Given the description of an element on the screen output the (x, y) to click on. 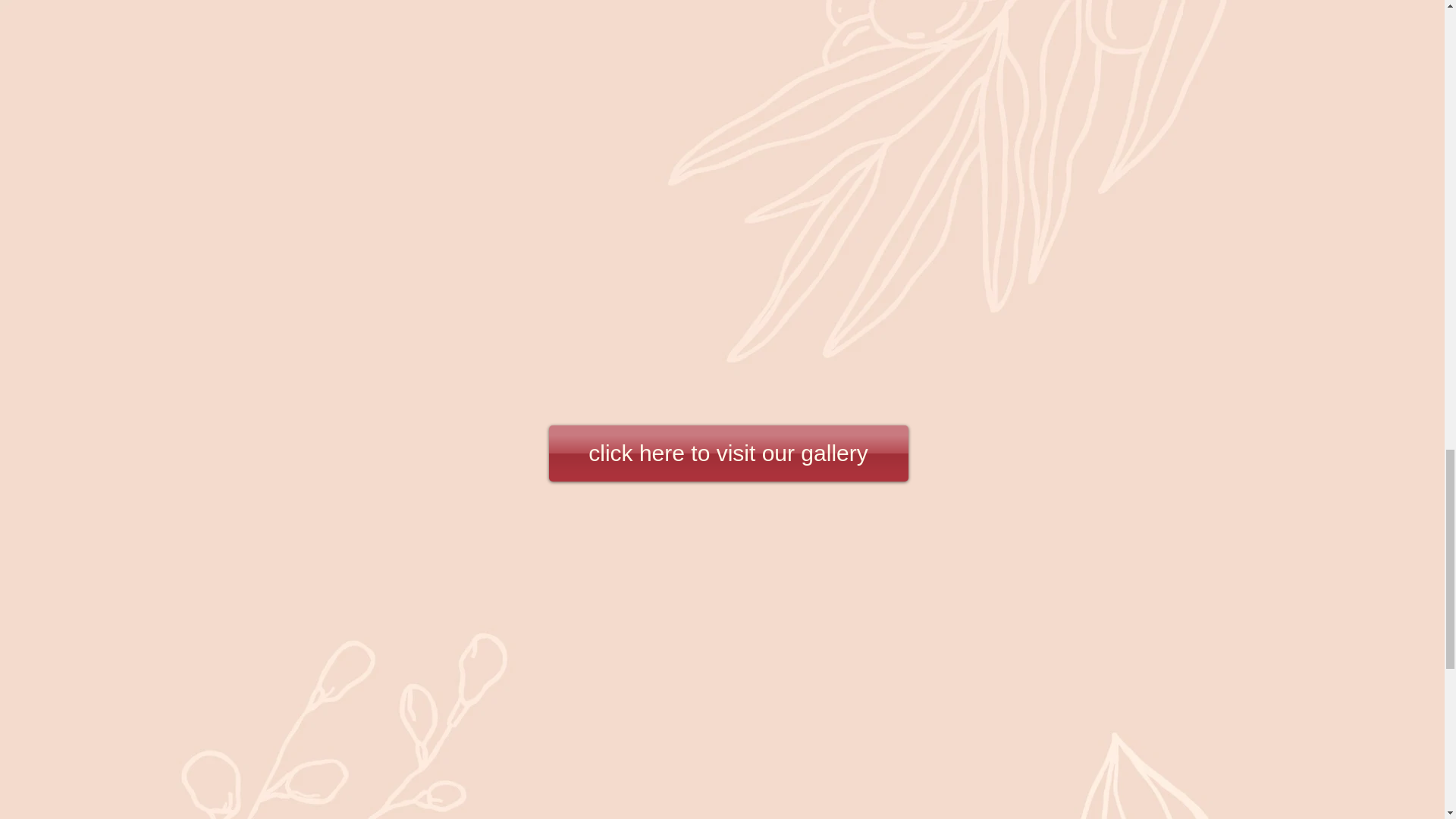
click here to visit our gallery (728, 453)
